Given the description of an element on the screen output the (x, y) to click on. 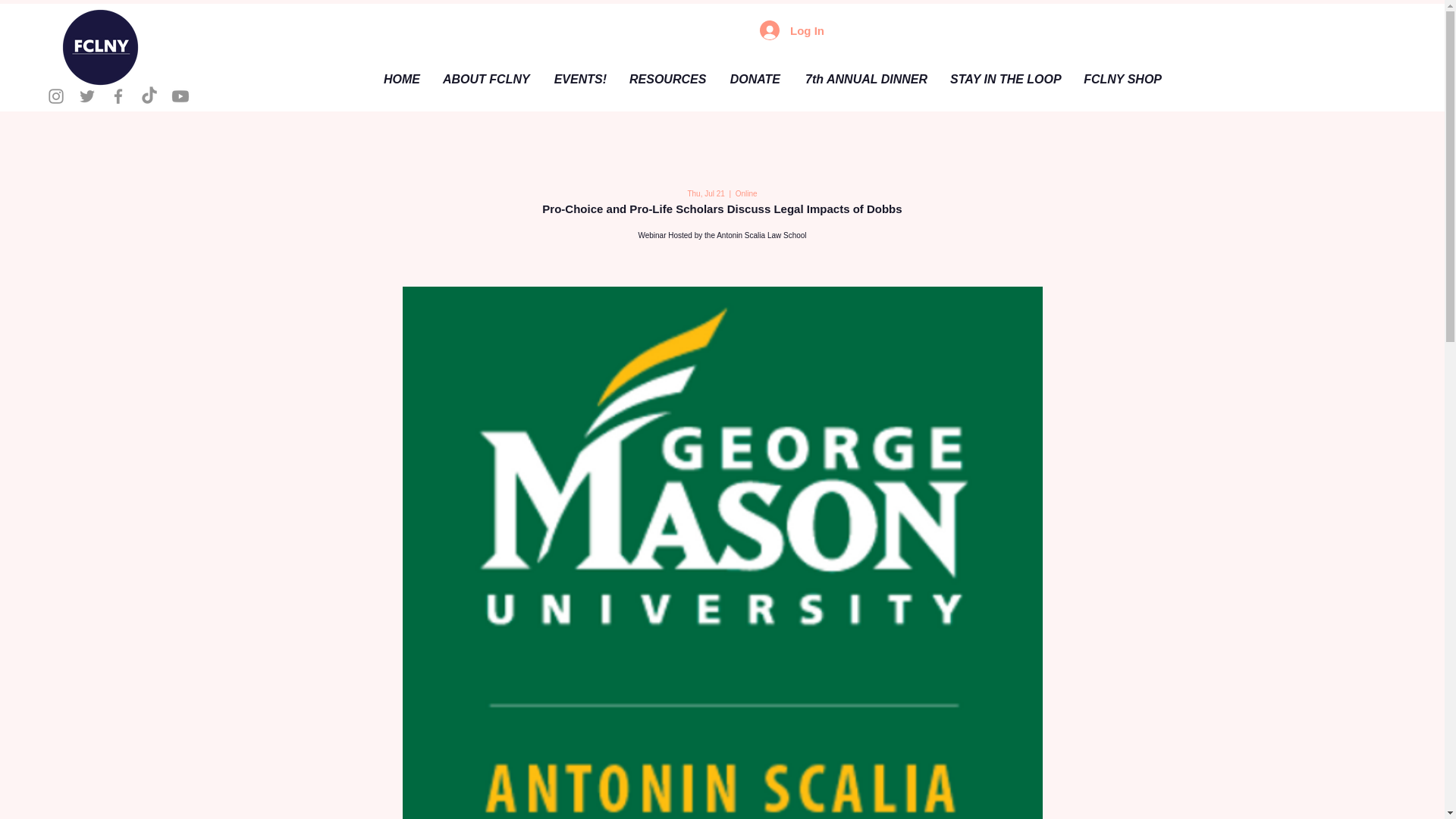
DONATE (753, 79)
7th ANNUAL DINNER (865, 79)
FCLNY SHOP (1122, 79)
EVENTS! (578, 79)
HOME (399, 79)
Log In (791, 30)
